Given the description of an element on the screen output the (x, y) to click on. 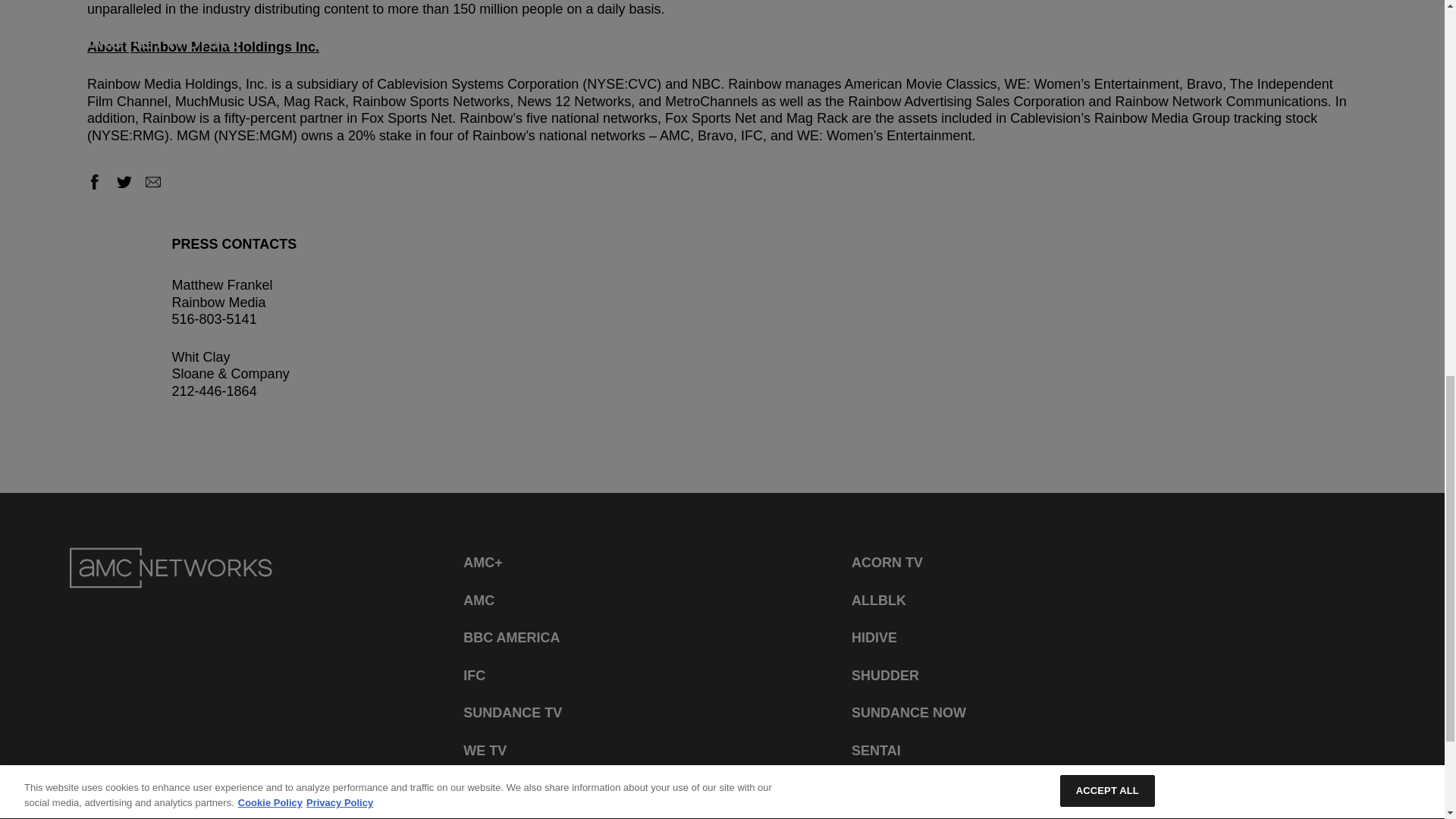
ALLBLK (878, 600)
BBC AMERICA (511, 637)
SUNDANCE TV (512, 712)
IFC FILMS (496, 788)
WE TV (484, 750)
ACORN TV (887, 562)
AMC Networks (170, 567)
AMC (479, 600)
HIDIVE (873, 637)
